Given the description of an element on the screen output the (x, y) to click on. 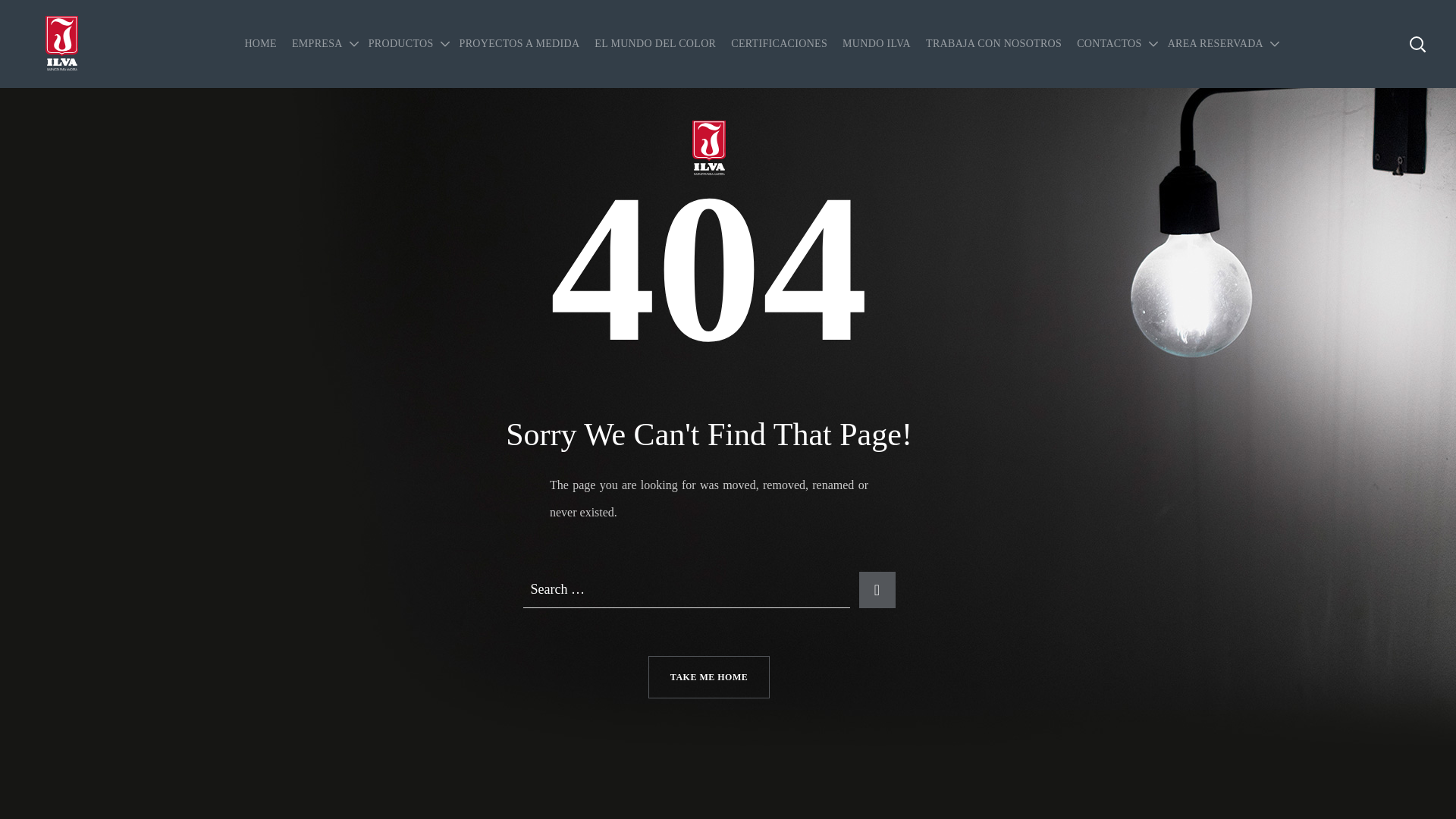
CONTACTOS (1114, 43)
PROYECTOS A MEDIDA (519, 43)
CERTIFICACIONES (778, 43)
EL MUNDO DEL COLOR (655, 43)
TRABAJA CON NOSOTROS (993, 43)
PRODUCTOS (406, 43)
